Given the description of an element on the screen output the (x, y) to click on. 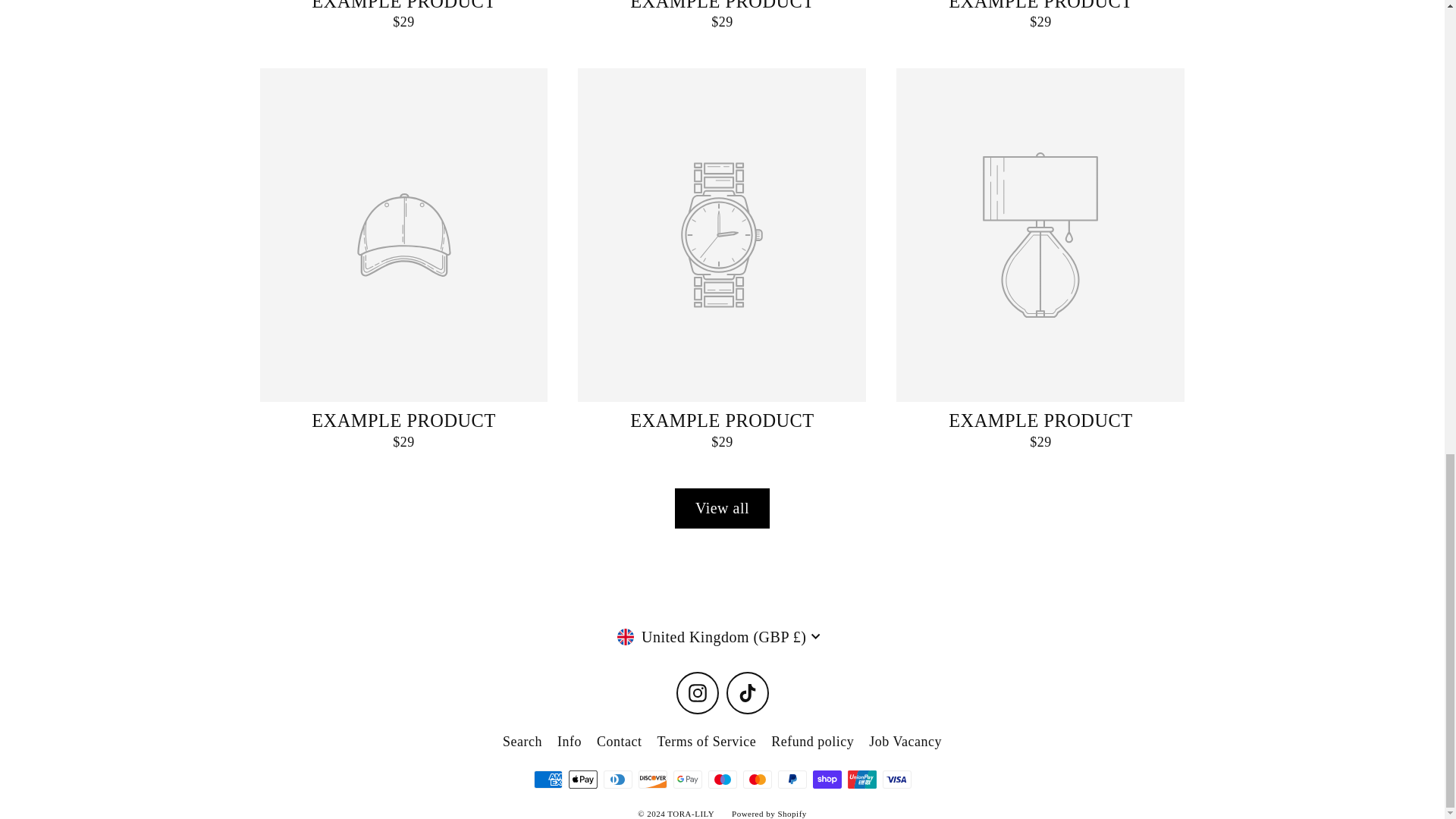
TORA-LILY on TikTok (747, 692)
Diners Club (617, 779)
Apple Pay (582, 779)
Google Pay (686, 779)
TORA-LILY on Instagram (698, 692)
PayPal (791, 779)
American Express (548, 779)
View all (722, 507)
Mastercard (756, 779)
Maestro (721, 779)
